Given the description of an element on the screen output the (x, y) to click on. 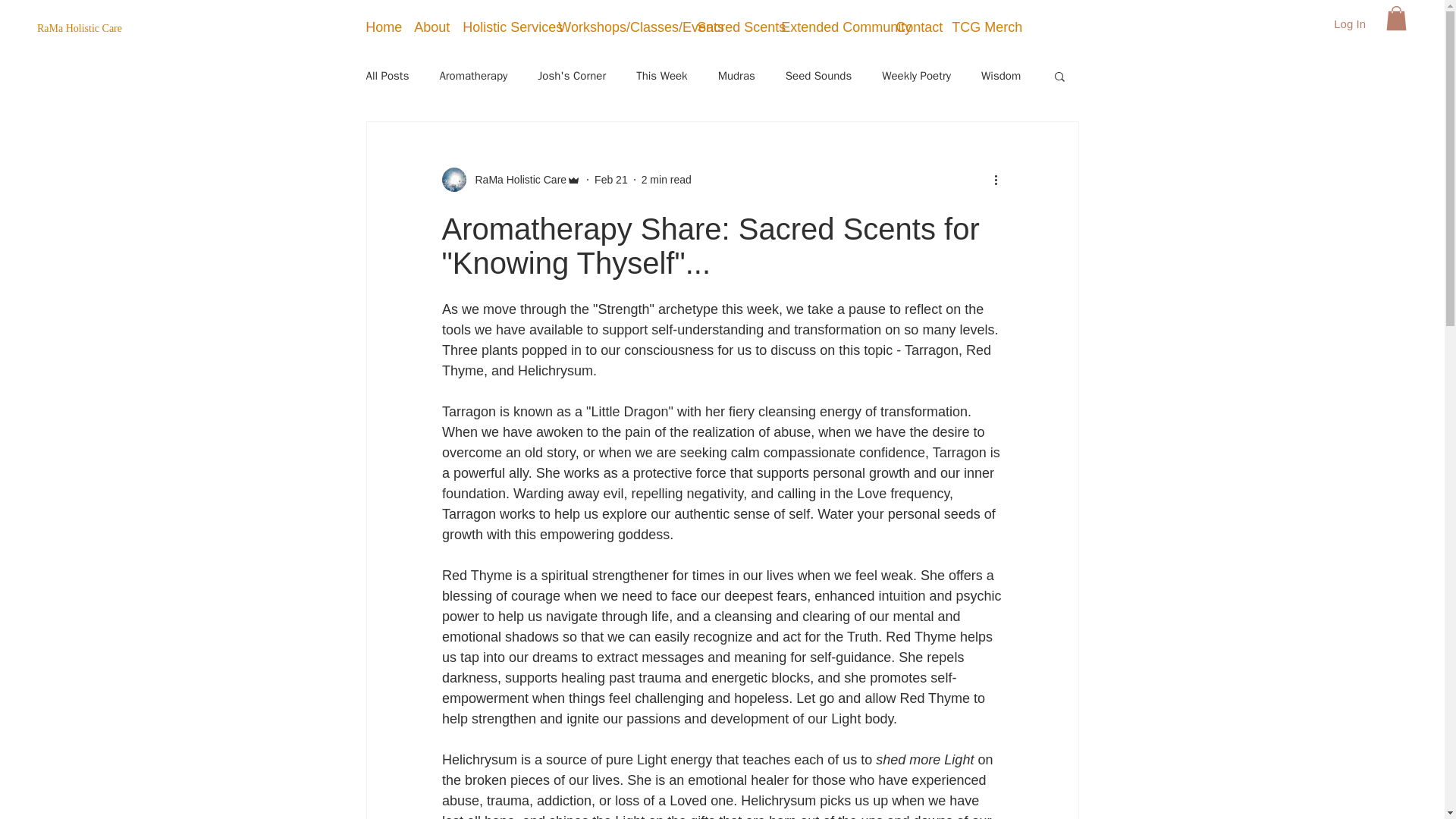
Holistic Services (497, 27)
RaMa Holistic Care (157, 28)
All Posts (387, 74)
Home (377, 27)
Extended Community (825, 27)
Log In (1349, 23)
RaMa Holistic Care  (515, 179)
Feb 21 (610, 178)
Aromatherapy (472, 74)
About (425, 27)
